Given the description of an element on the screen output the (x, y) to click on. 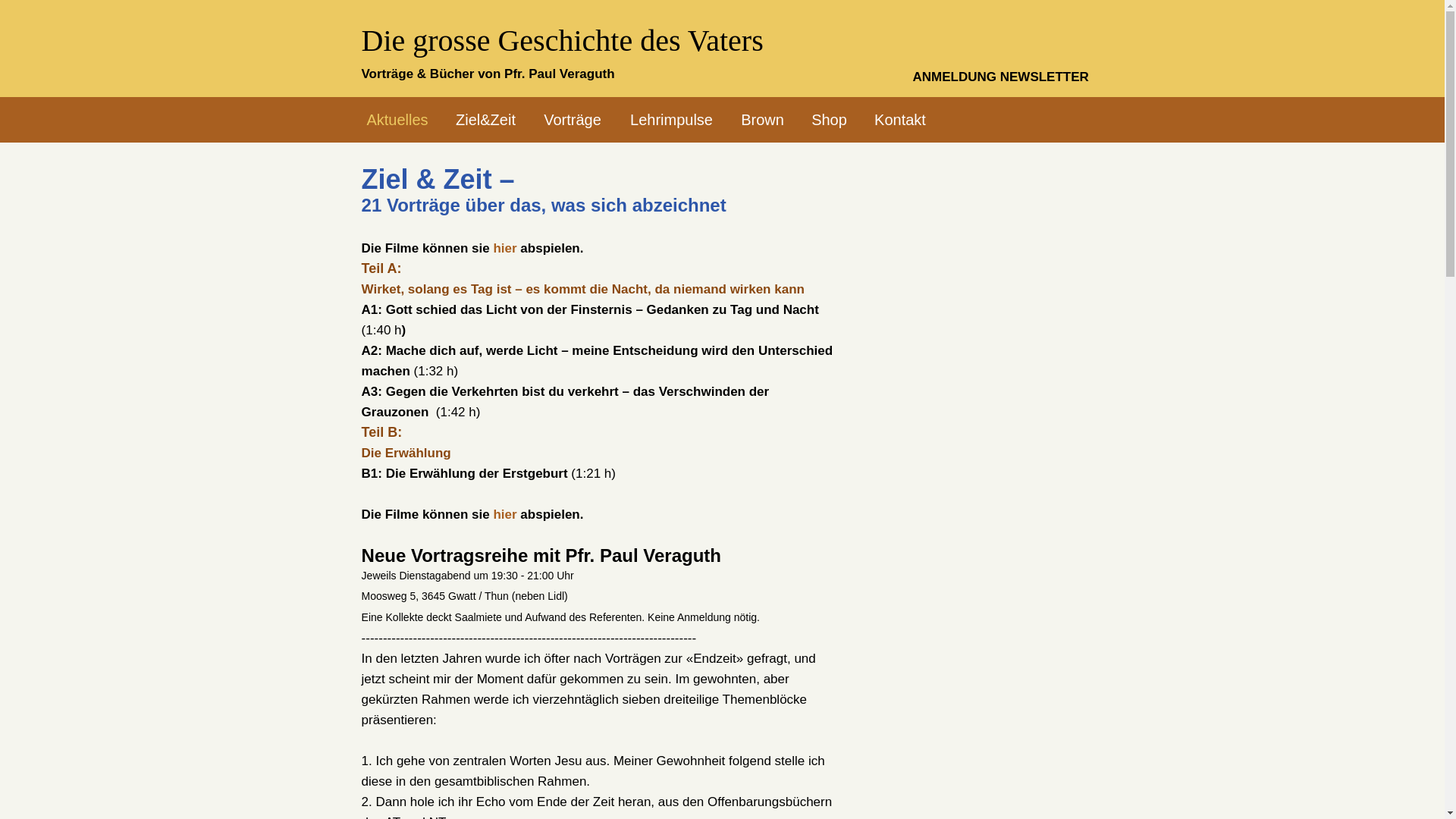
Ziel&Zeit Element type: text (485, 119)
ANMELDUNG NEWSLETTER Element type: text (1002, 75)
Aktuelles Element type: text (397, 119)
hier Element type: text (504, 514)
Kontakt Element type: text (900, 119)
Shop Element type: text (829, 119)
hier Element type: text (504, 248)
Brown Element type: text (762, 119)
Lehrimpulse Element type: text (672, 119)
